Given the description of an element on the screen output the (x, y) to click on. 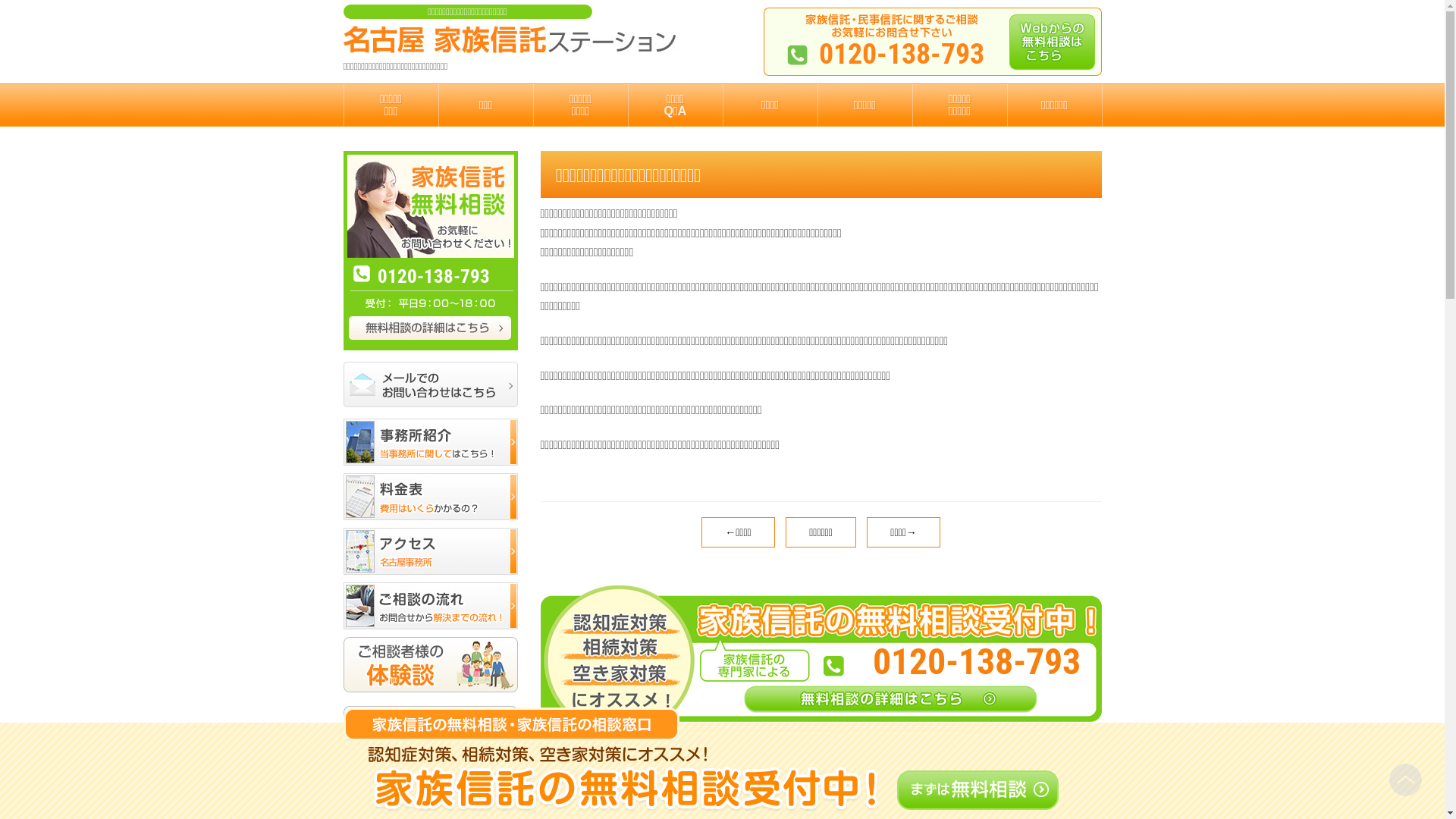
0120-138-793 Element type: text (820, 590)
